Given the description of an element on the screen output the (x, y) to click on. 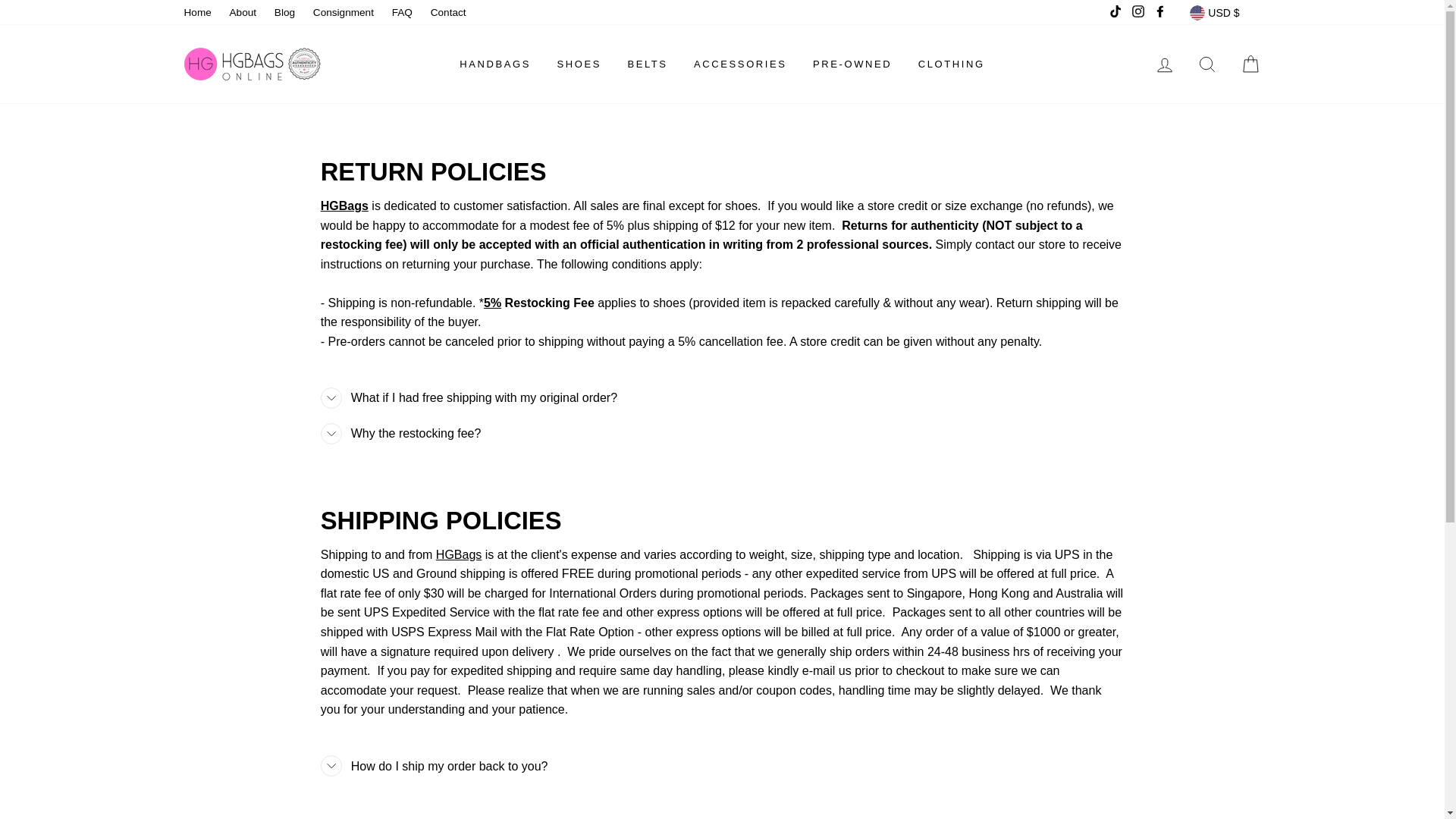
Blog (284, 12)
Contact (448, 12)
About (243, 12)
FAQ (402, 12)
Home (197, 12)
Consignment (343, 12)
